Given the description of an element on the screen output the (x, y) to click on. 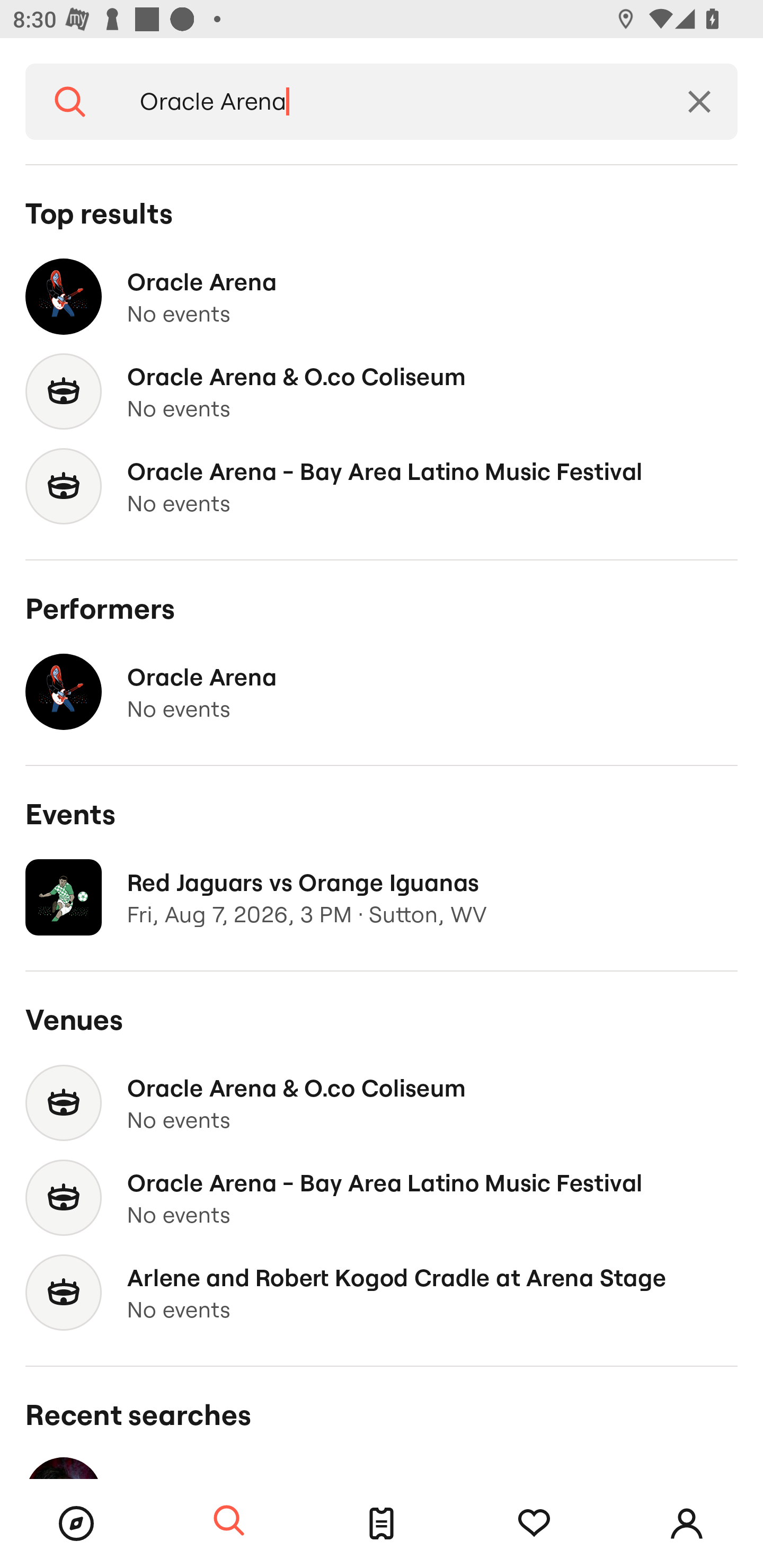
Search (69, 101)
Oracle Arena (387, 101)
Clear (699, 101)
Oracle Arena No events (381, 296)
Oracle Arena & O.co Coliseum No events (381, 391)
Oracle Arena No events (381, 692)
Oracle Arena & O.co Coliseum No events (381, 1102)
Browse (76, 1523)
Search (228, 1521)
Tickets (381, 1523)
Tracking (533, 1523)
Account (686, 1523)
